Given the description of an element on the screen output the (x, y) to click on. 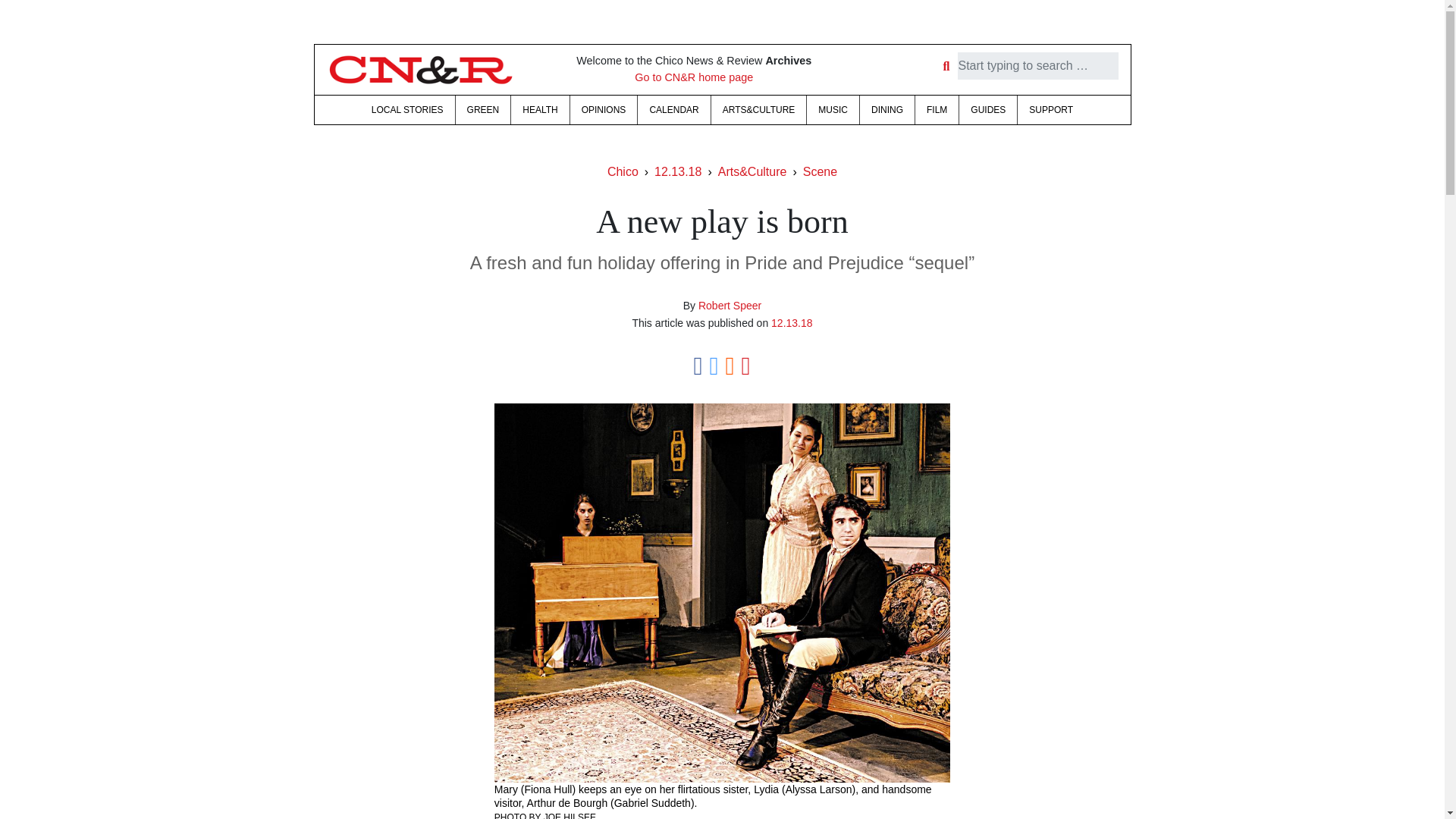
GUIDES (987, 109)
12.13.18 (677, 171)
CALENDAR (673, 109)
12.13.18 (791, 322)
OPINIONS (603, 109)
HEALTH (540, 109)
Chico (623, 171)
Scene (820, 171)
Robert Speer (729, 305)
MUSIC (832, 109)
